Given the description of an element on the screen output the (x, y) to click on. 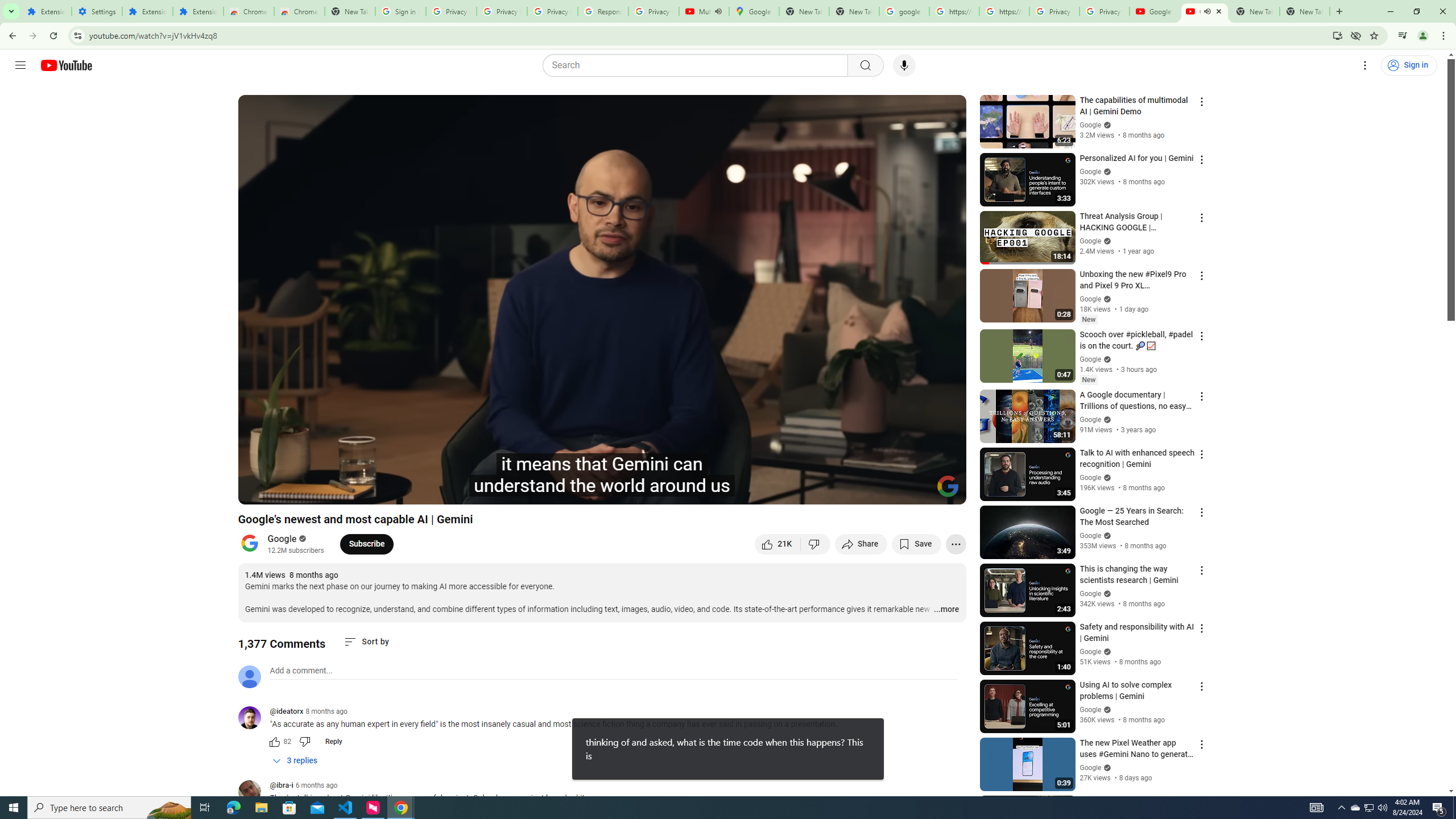
Save to playlist (915, 543)
https://scholar.google.com/ (954, 11)
New Tab (350, 11)
Google Maps (753, 11)
Chrome Web Store (248, 11)
Sign in - Google Accounts (399, 11)
Extensions (197, 11)
Search with your voice (903, 65)
https://scholar.google.com/ (1004, 11)
